Given the description of an element on the screen output the (x, y) to click on. 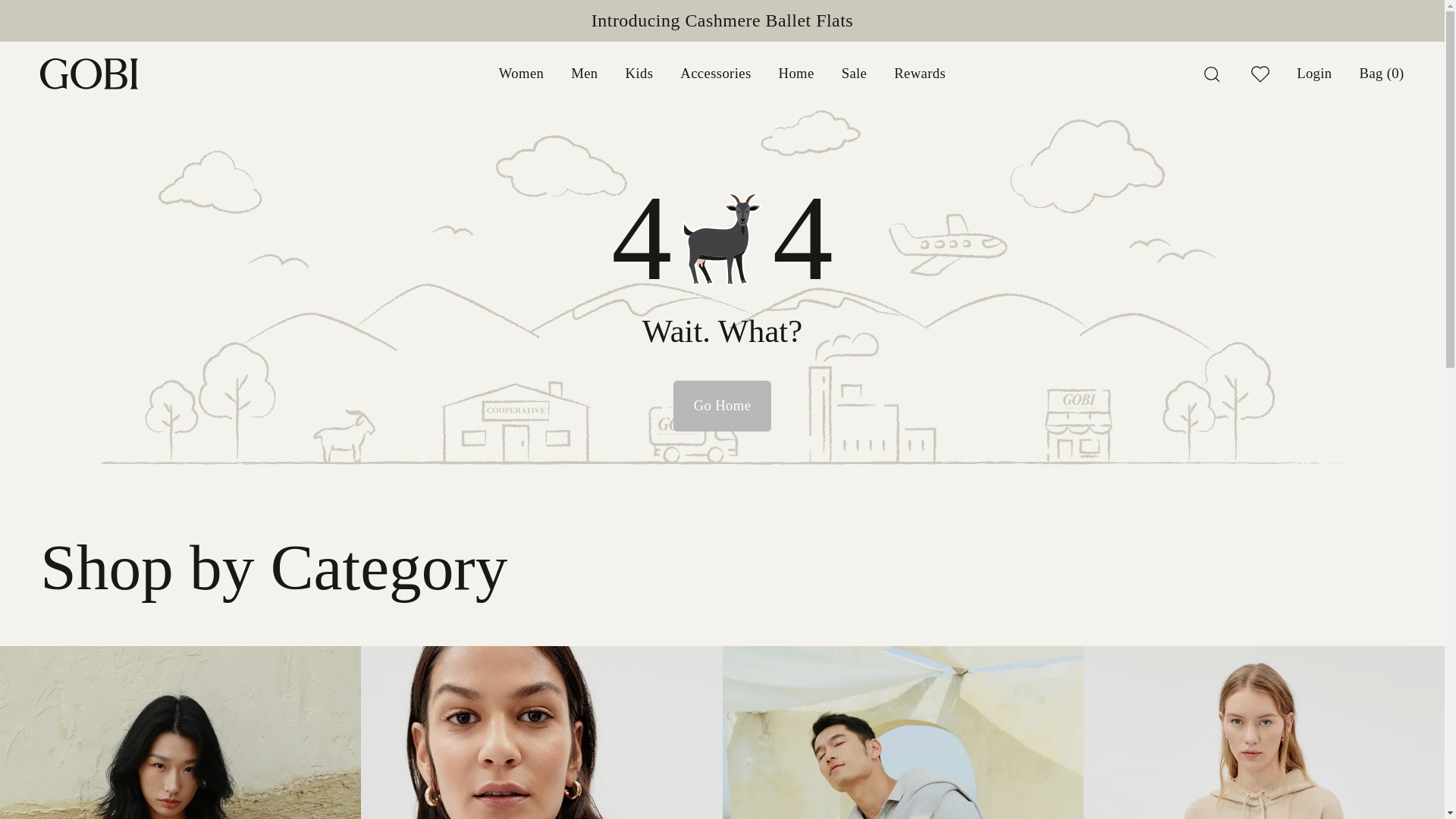
Sale (854, 73)
Rewards (918, 73)
Women (521, 73)
Accessories (715, 73)
Kids (639, 73)
Men (583, 73)
Go Home (721, 405)
Login (1314, 73)
Go Home (721, 405)
Home (795, 73)
